Given the description of an element on the screen output the (x, y) to click on. 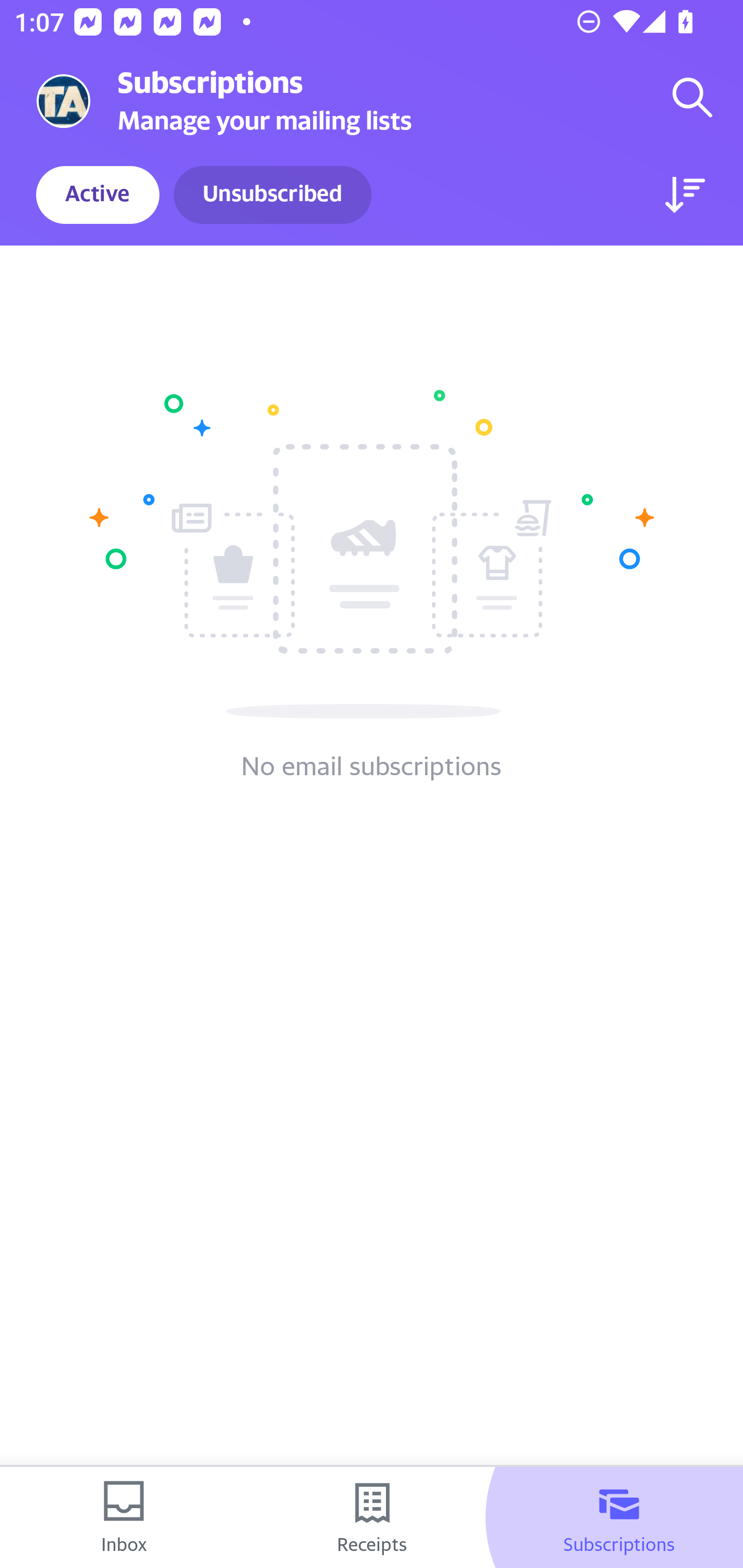
Search mail (692, 97)
Unsubscribed (272, 195)
Sort (684, 195)
Inbox (123, 1517)
Receipts (371, 1517)
Subscriptions (619, 1517)
